Given the description of an element on the screen output the (x, y) to click on. 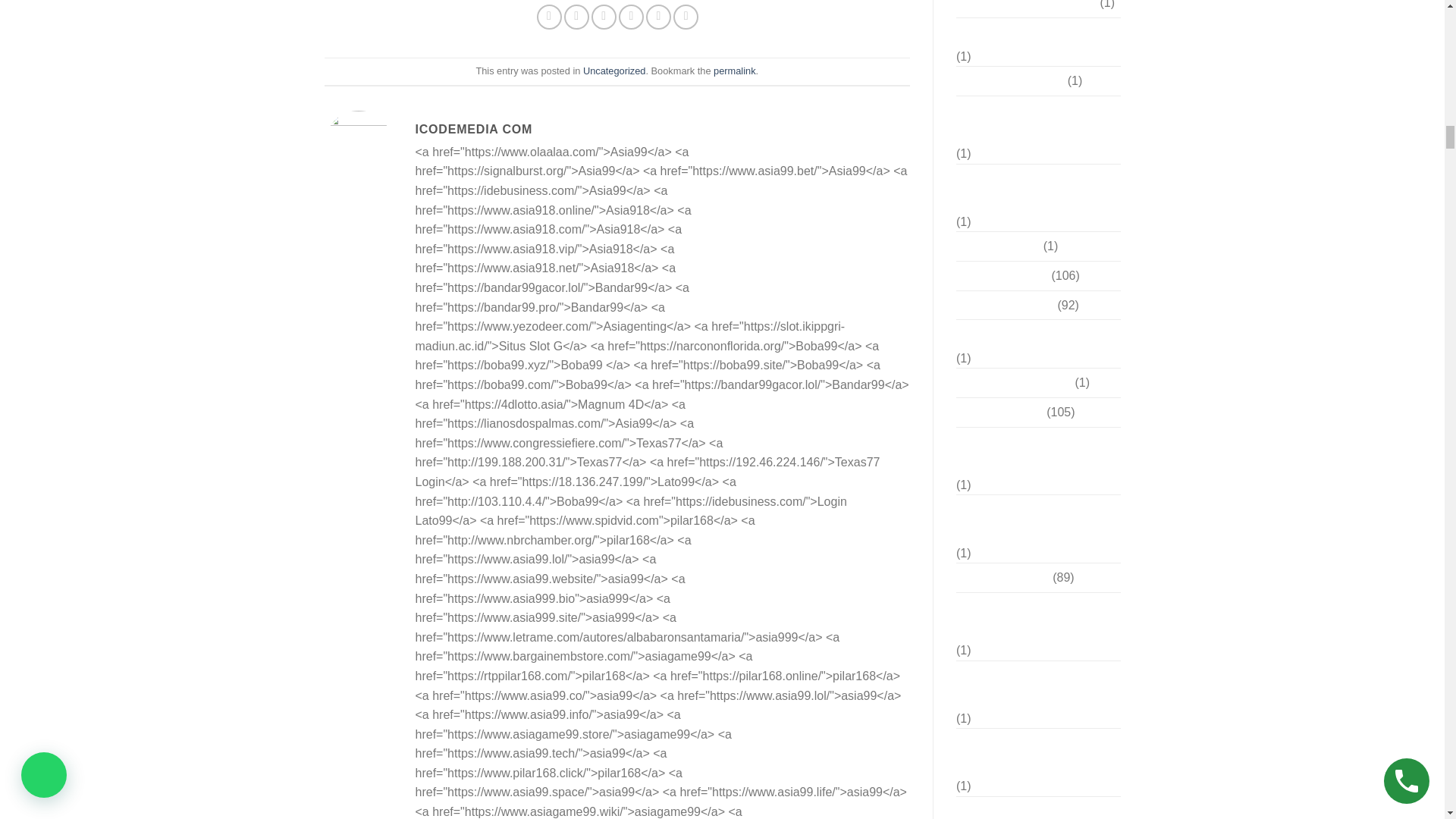
Share on Facebook (549, 16)
Share on LinkedIn (685, 16)
Share on Twitter (576, 16)
Email to a Friend (603, 16)
Pin on Pinterest (630, 16)
